Given the description of an element on the screen output the (x, y) to click on. 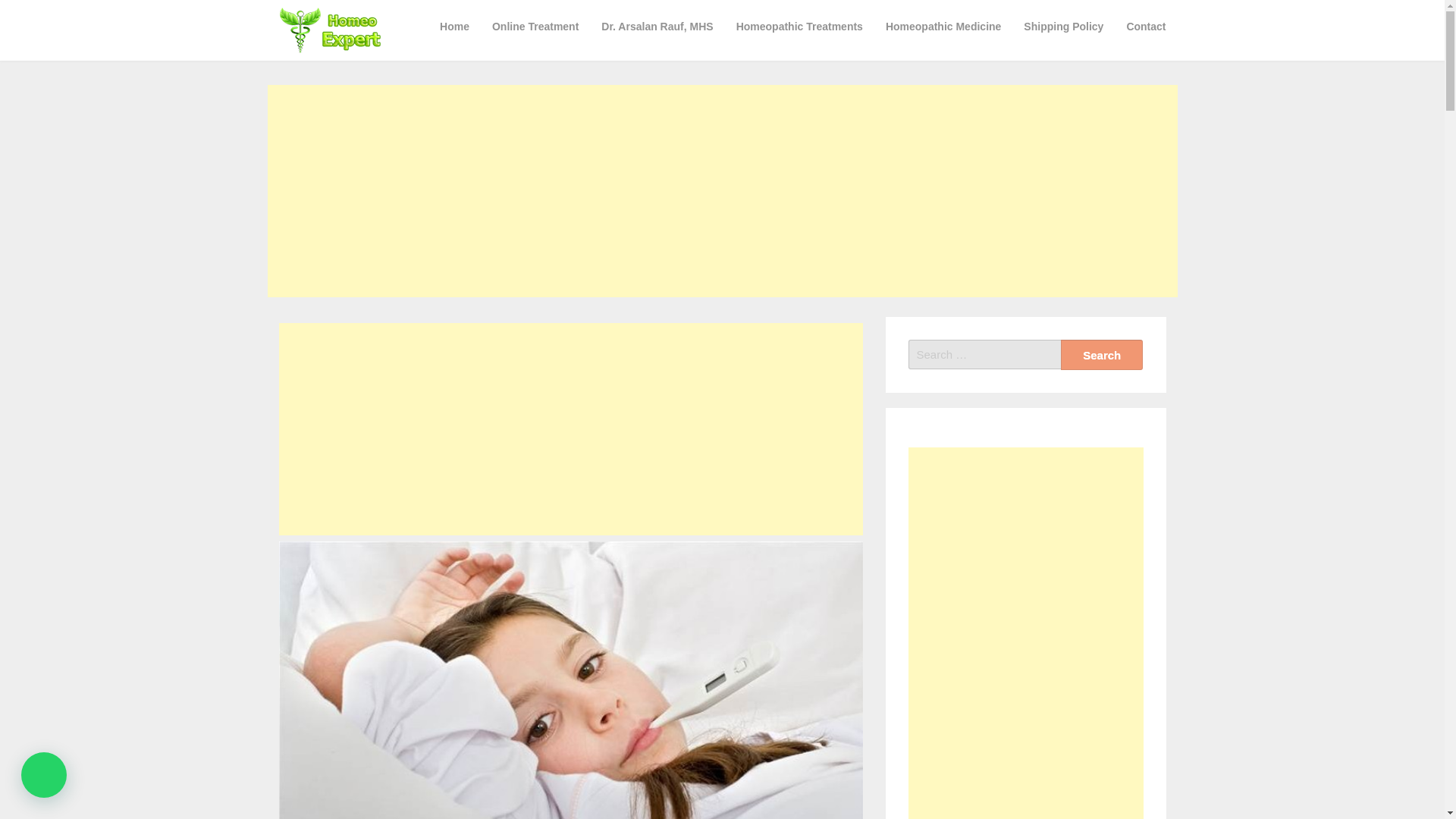
Homeopathic Medicine (943, 26)
Shipping Policy (1063, 26)
Advertisement (571, 428)
Homeopathic Treatments (800, 26)
Online Treatment (534, 26)
Search (1101, 354)
Contact (1145, 26)
Home (454, 26)
Dr. Arsalan Rauf, MHS (656, 26)
Search (1101, 354)
Search (1101, 354)
